Given the description of an element on the screen output the (x, y) to click on. 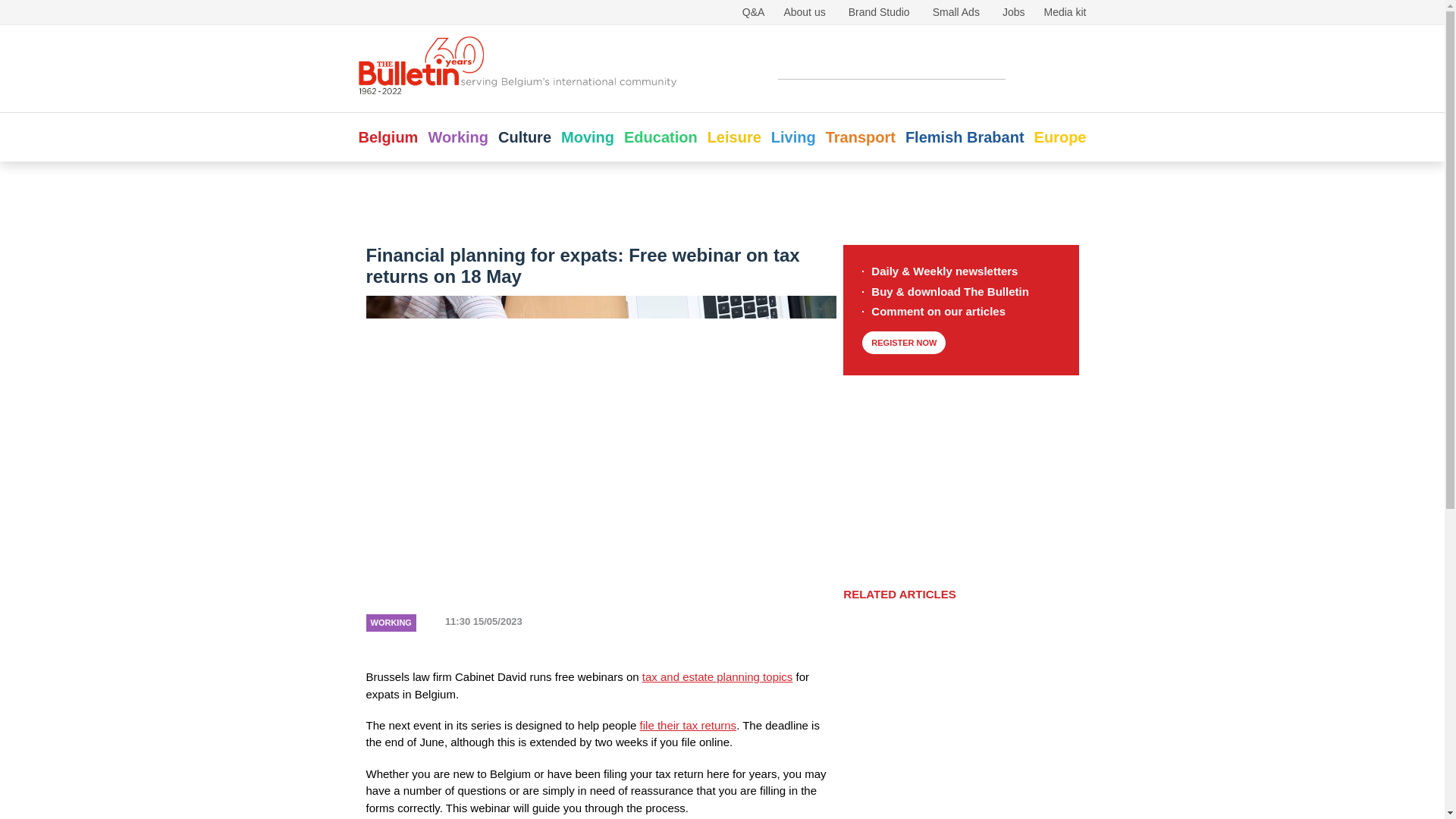
Culture (524, 136)
Brand Studio (879, 11)
Belgium (387, 136)
Jobs (1014, 11)
Enter the terms you wish to search for. (891, 67)
About us (804, 11)
Working (457, 136)
REGISTER NOW (902, 342)
Search (1037, 67)
Flemish Brabant (965, 136)
